Given the description of an element on the screen output the (x, y) to click on. 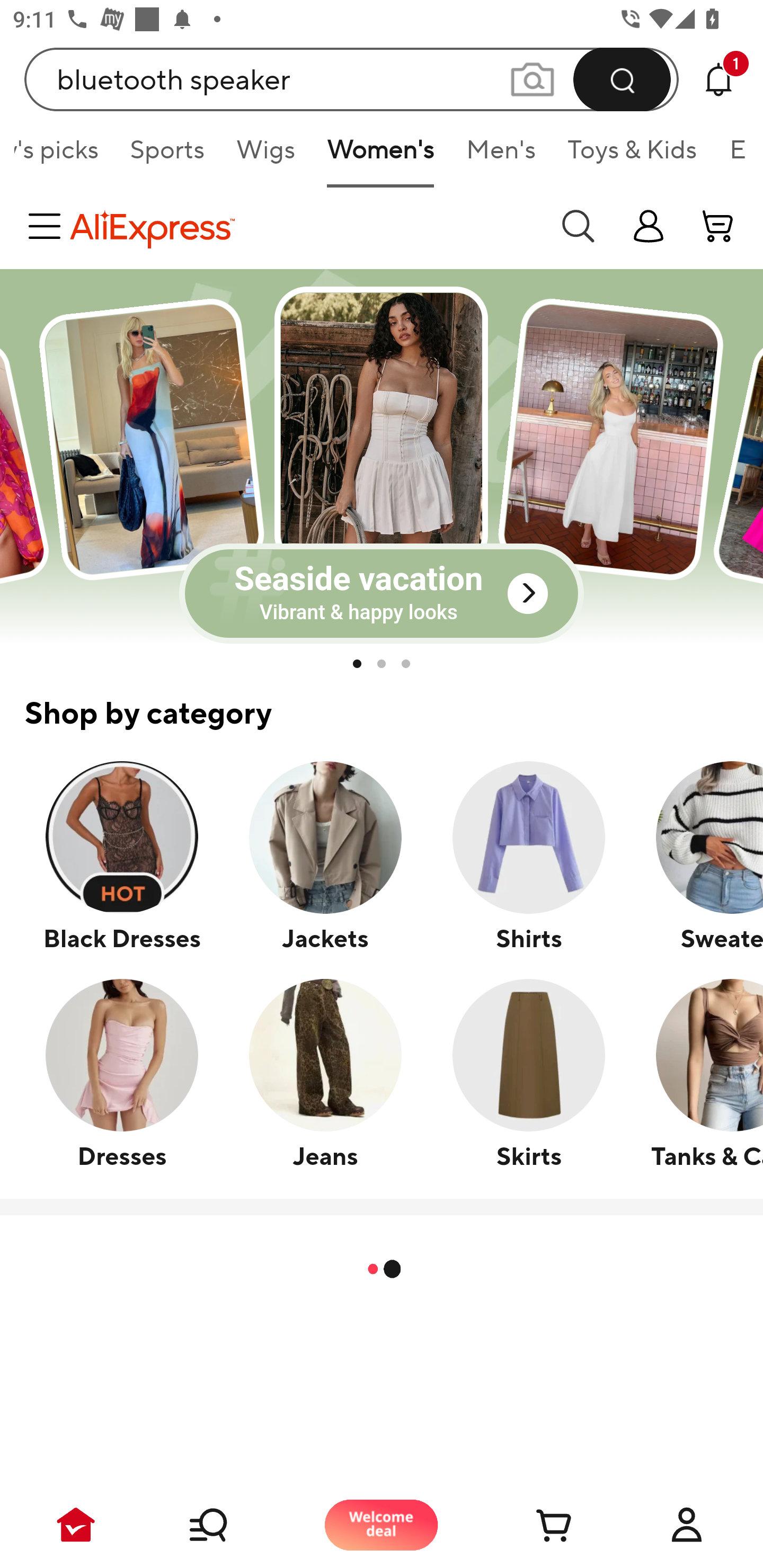
bluetooth speaker (351, 79)
Paddy's picks (63, 155)
Sports (166, 155)
Wigs (265, 155)
Men's (500, 155)
Toys & Kids (632, 155)
aliexpress (305, 225)
category (47, 225)
shop (648, 225)
account (718, 225)
Shop by category (381, 702)
Black Dresses 225x230.png_ Black Dresses (121, 855)
Jackets 225x225.png_ Jackets (324, 855)
Shirts 225x225.png_ Shirts (528, 855)
Sweaters 225x225.png_ Sweaters (696, 855)
Dresses 225x225.png_ Dresses (121, 1073)
Jeans 225x225.png_ Jeans (324, 1073)
Skirts 225x225.png_ Skirts (528, 1073)
Tanks & Camis 225x225.png_ Tanks & Camis (696, 1073)
Shop (228, 1524)
Cart (533, 1524)
Account (686, 1524)
